Given the description of an element on the screen output the (x, y) to click on. 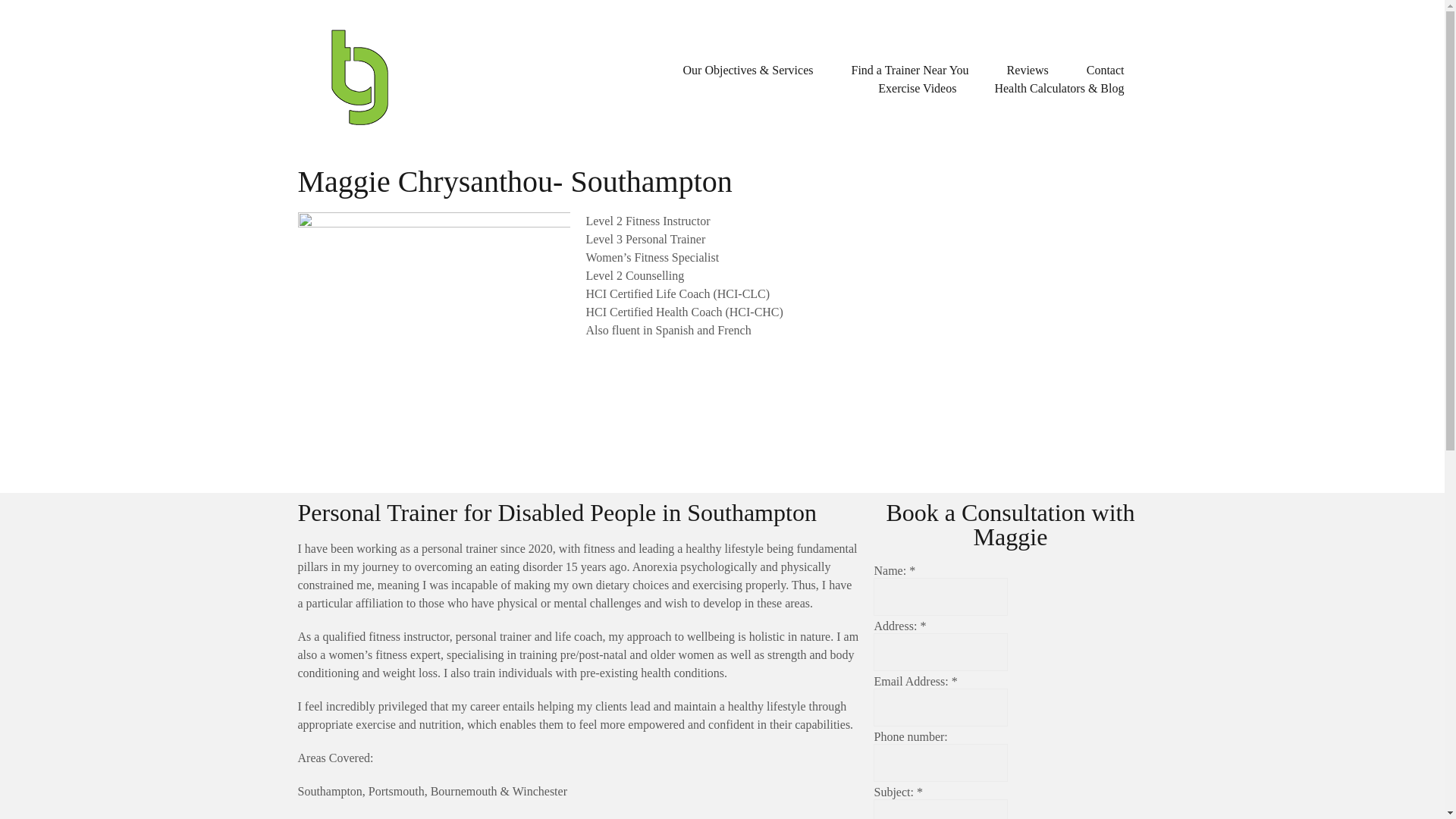
Exercise Videos (916, 88)
Please enter only numbers at least 6 characters (940, 762)
Reviews (1027, 70)
Contact (1105, 70)
Find a Trainer Near You (909, 70)
